Given the description of an element on the screen output the (x, y) to click on. 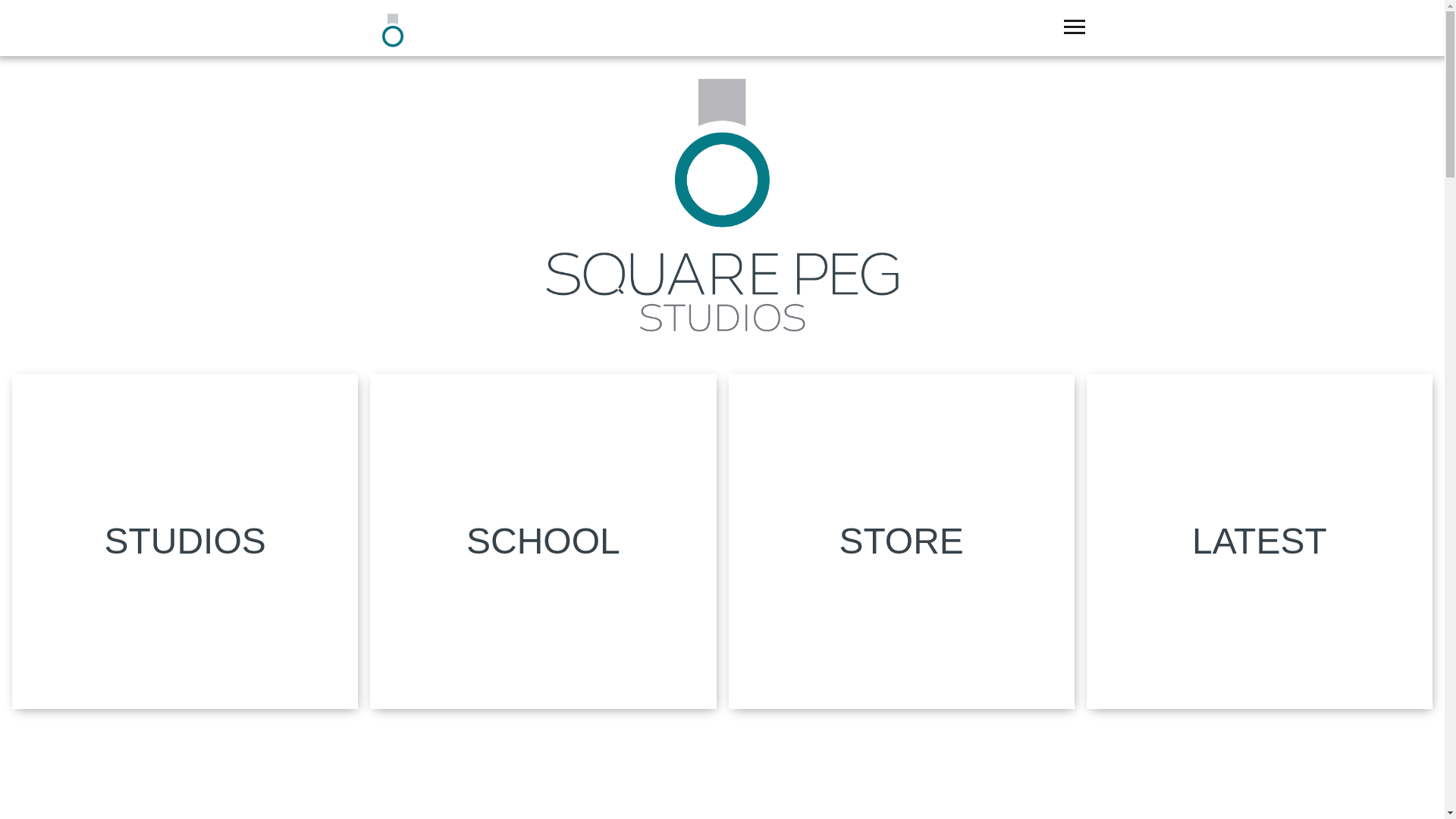
SquarePegStudio.ICON.RGB (415, 53)
STORE (901, 541)
LATEST (1259, 541)
STUDIOS (184, 541)
SCHOOL (542, 541)
